Given the description of an element on the screen output the (x, y) to click on. 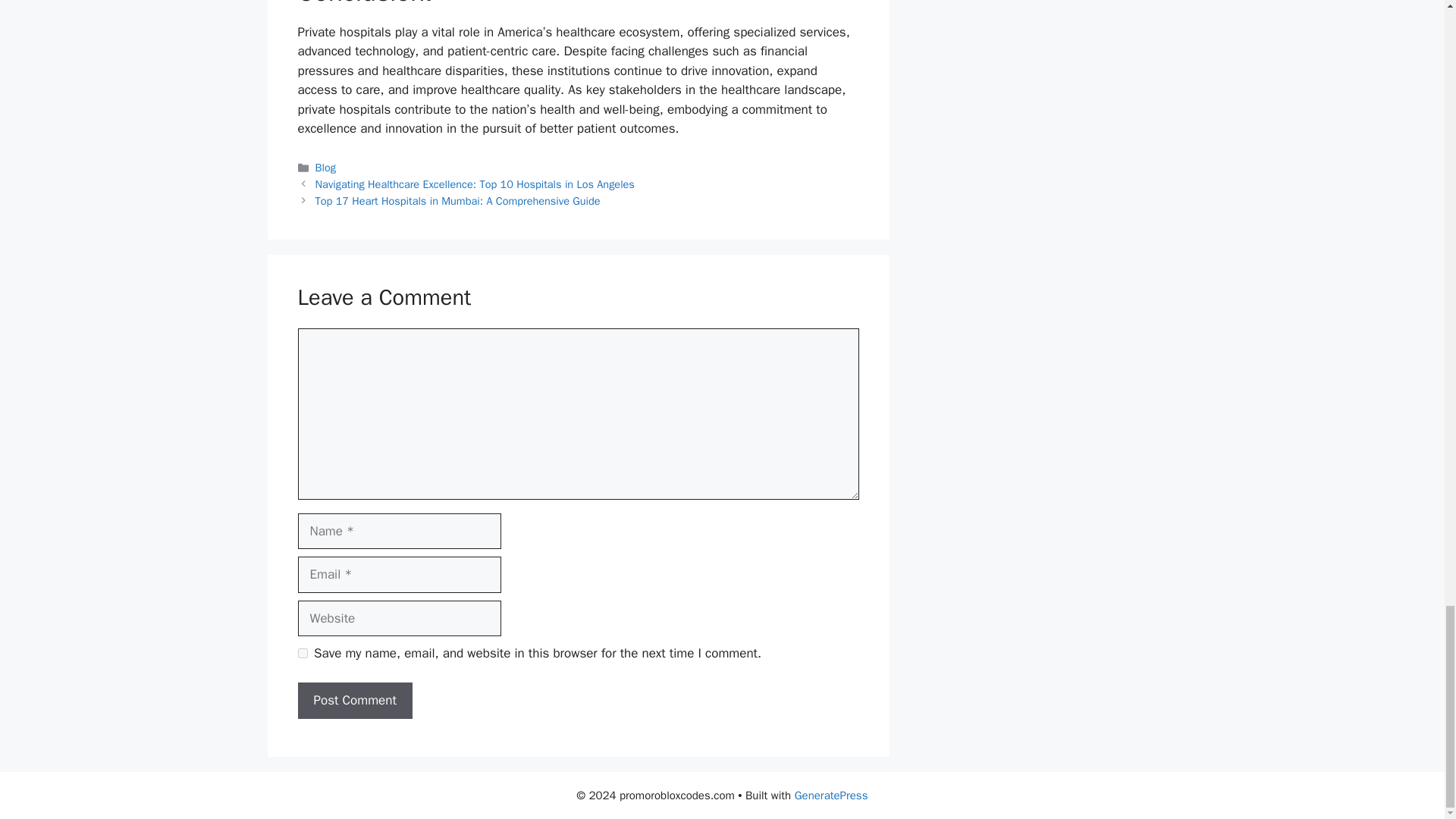
Post Comment (354, 700)
Post Comment (354, 700)
Blog (325, 167)
GeneratePress (830, 795)
yes (302, 653)
Top 17 Heart Hospitals in Mumbai: A Comprehensive Guide (457, 201)
